Given the description of an element on the screen output the (x, y) to click on. 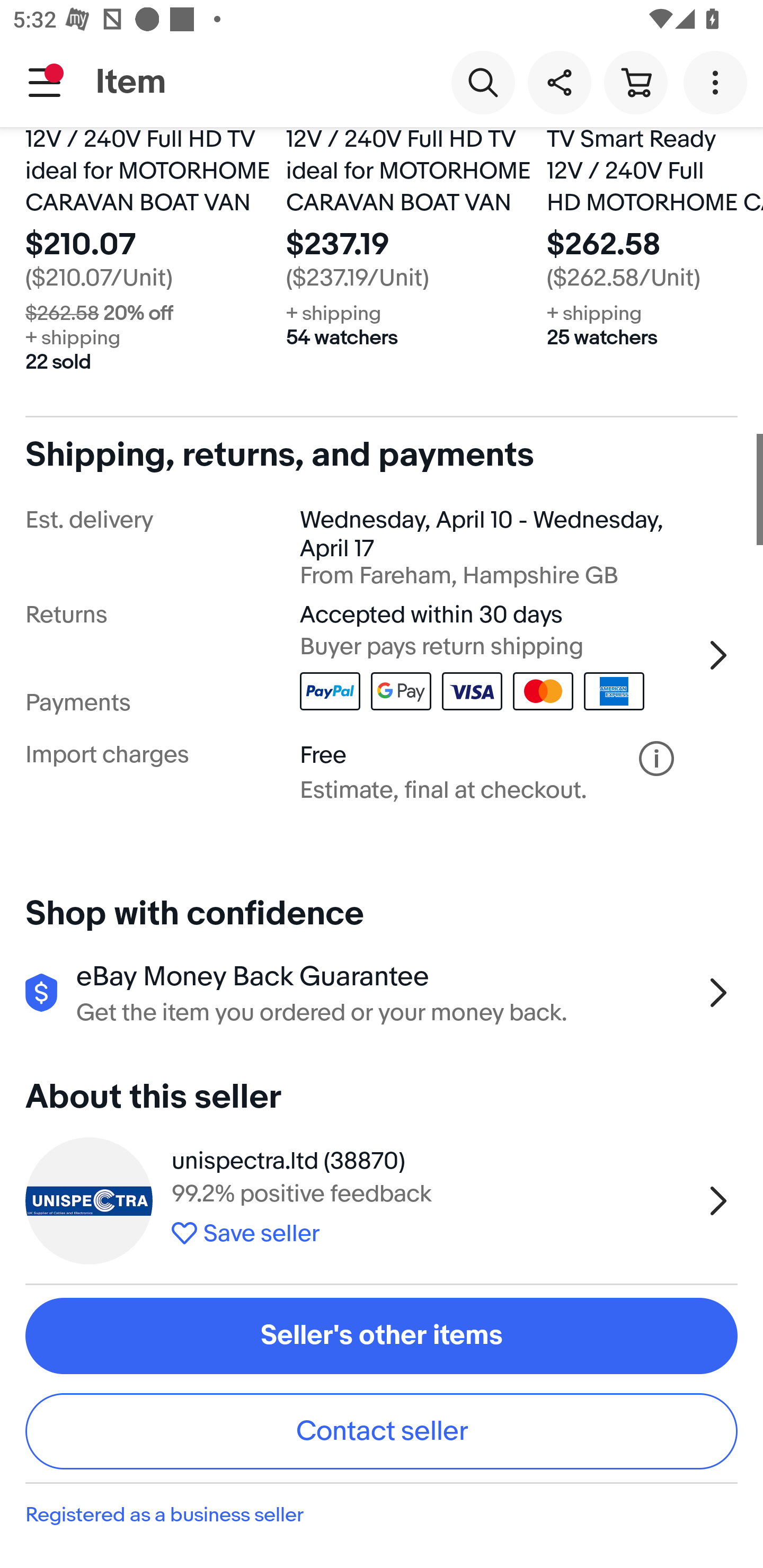
Main navigation, notification is pending, open (44, 82)
Search (482, 81)
Share this item (559, 81)
Cart button shopping cart (635, 81)
More options (718, 81)
Terms and conditions - Import charges (656, 758)
Save seller (431, 1230)
Seller's other items (381, 1335)
Contact seller (381, 1431)
Registered as a business seller (381, 1514)
